Given the description of an element on the screen output the (x, y) to click on. 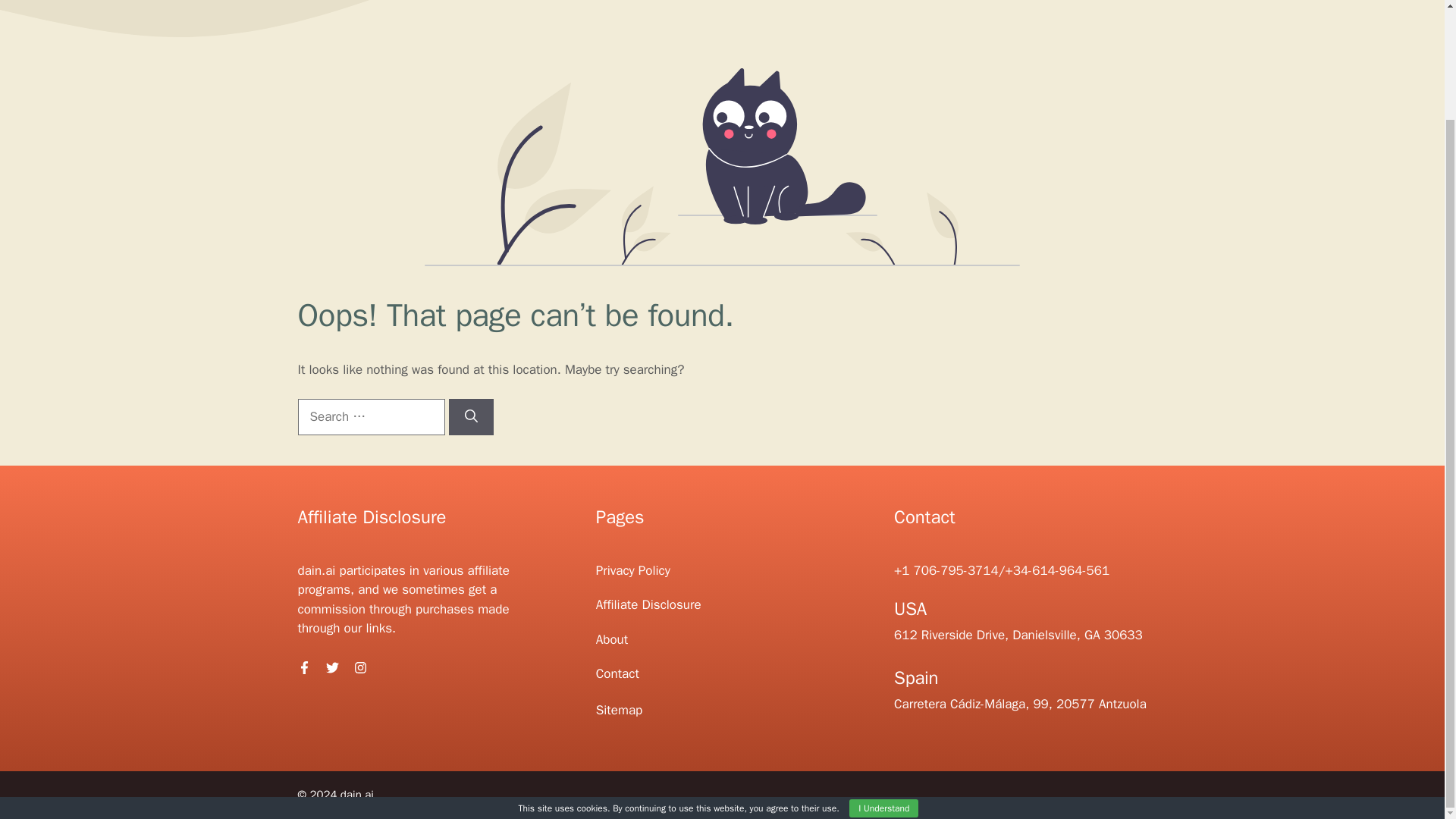
Search for: (370, 416)
Contact (617, 673)
Affiliate Disclosure (648, 604)
Sitemap (618, 709)
I Understand (883, 679)
Privacy Policy (632, 570)
About (611, 639)
